Given the description of an element on the screen output the (x, y) to click on. 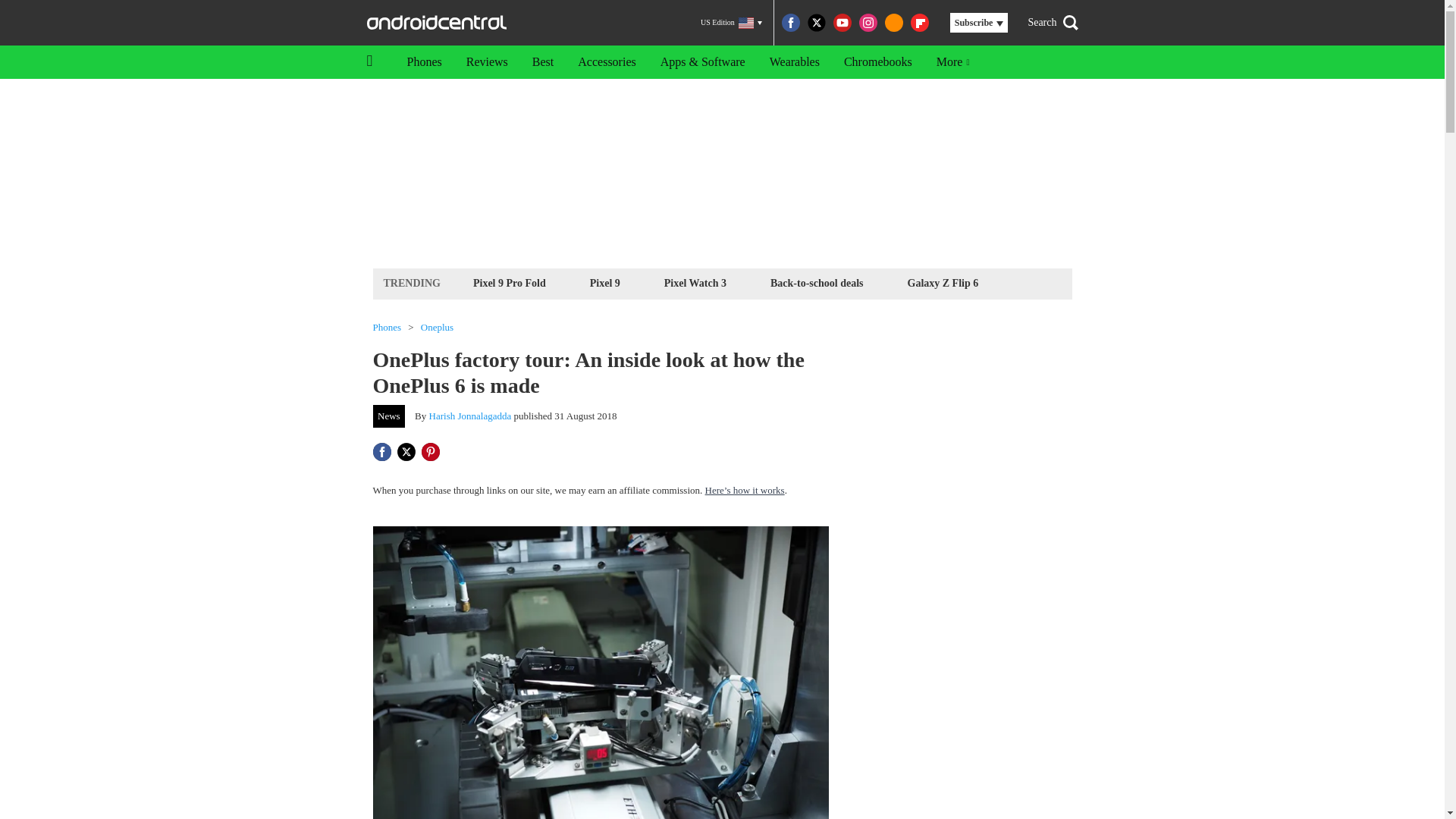
Pixel 9 Pro Fold (509, 282)
Best (542, 61)
Wearables (794, 61)
Galaxy Z Flip 6 (943, 282)
Back-to-school deals (817, 282)
Phones (386, 327)
US Edition (731, 22)
Accessories (606, 61)
Reviews (486, 61)
Chromebooks (877, 61)
